Given the description of an element on the screen output the (x, y) to click on. 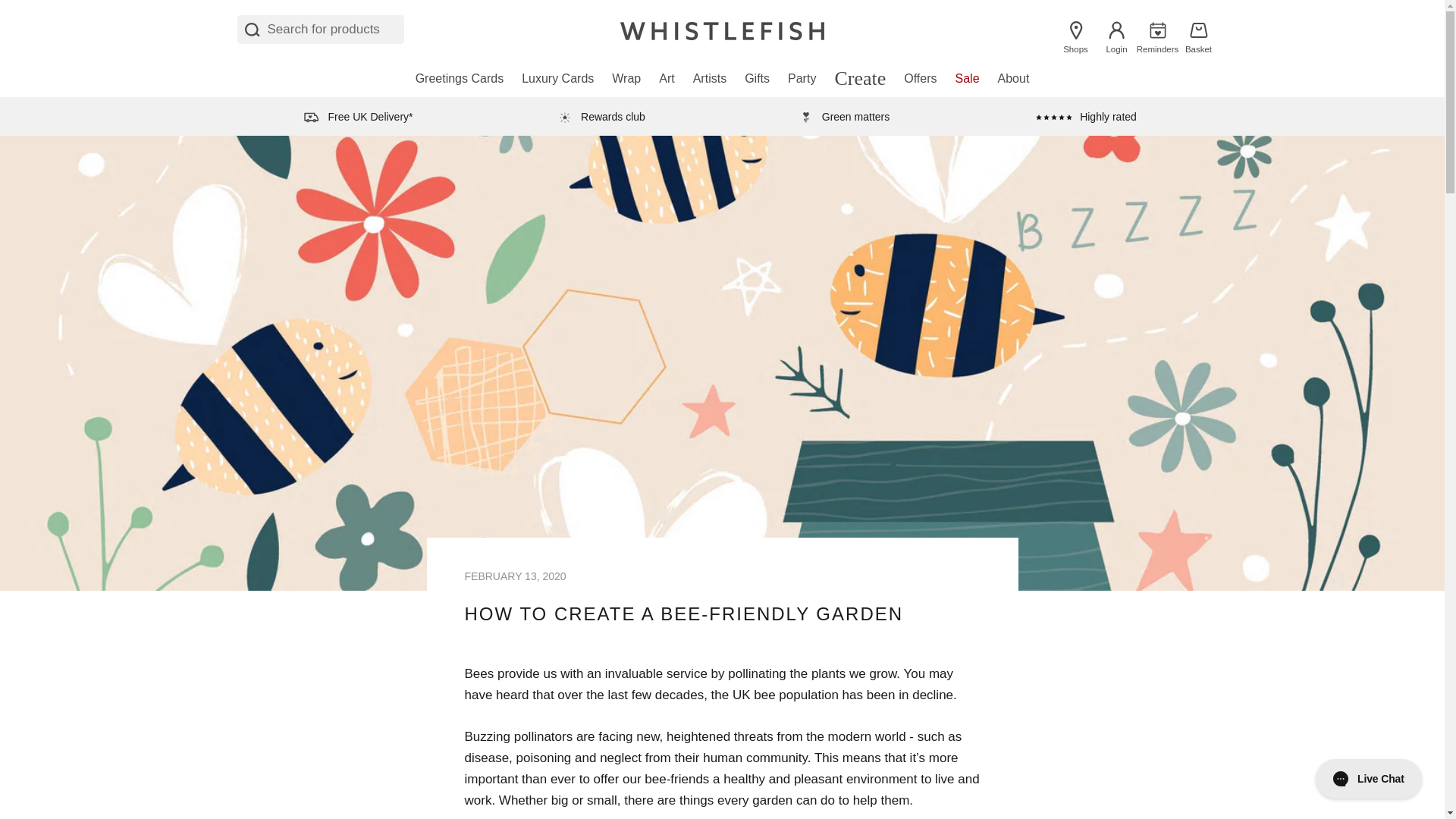
Delivery information (357, 116)
Whistlefish homepage (722, 29)
Delivery information (600, 116)
Green matters (843, 116)
Customer reviews (1086, 116)
Gorgias live chat messenger (1368, 778)
